Given the description of an element on the screen output the (x, y) to click on. 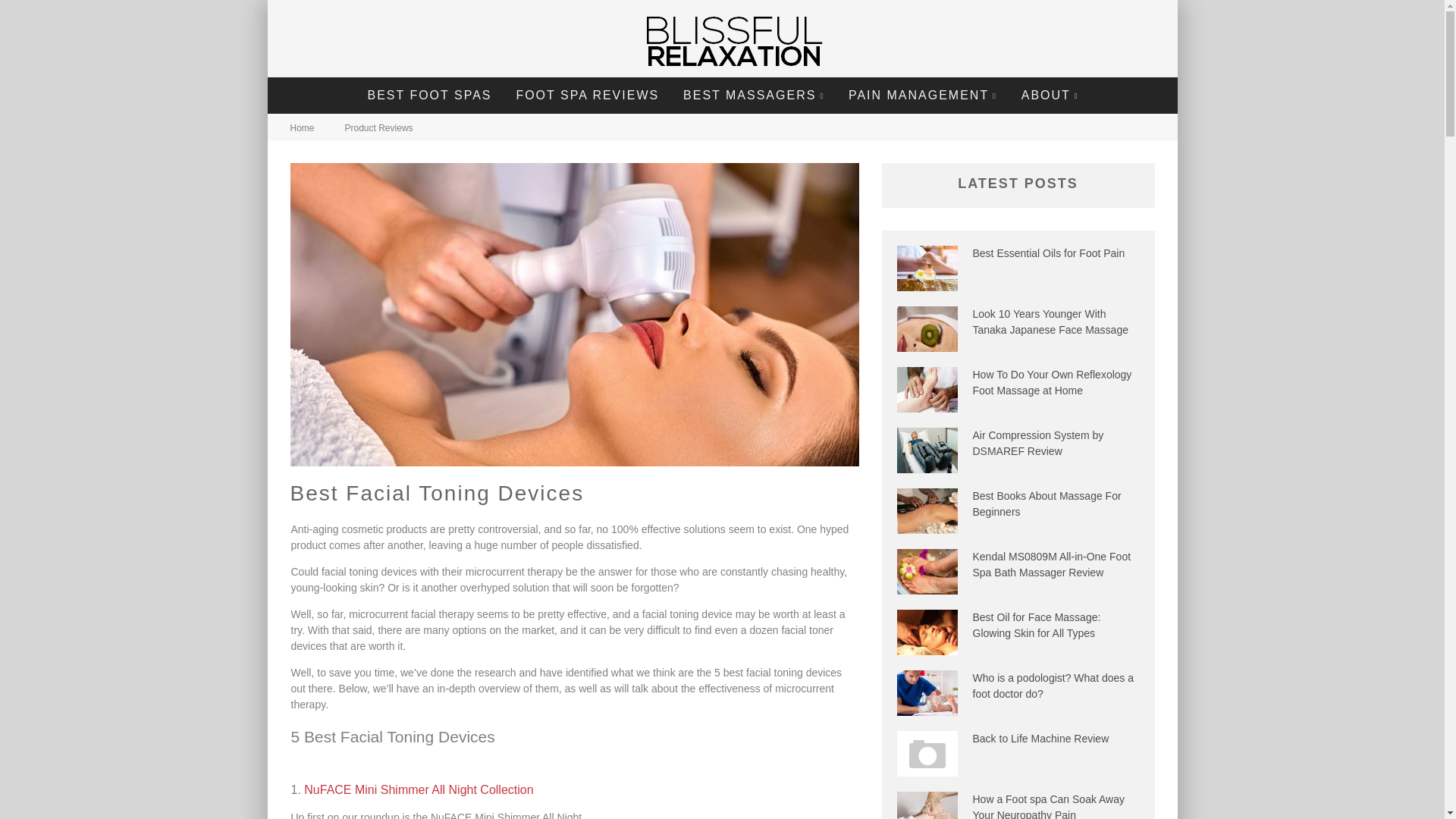
Product Reviews (379, 127)
FOOT SPA REVIEWS (586, 94)
PAIN MANAGEMENT (923, 94)
BEST FOOT SPAS (428, 94)
BEST MASSAGERS (753, 94)
Home (301, 127)
View all posts in Product Reviews (379, 127)
ABOUT (1050, 94)
NuFACE Mini Shimmer All Night Collection (418, 788)
